Given the description of an element on the screen output the (x, y) to click on. 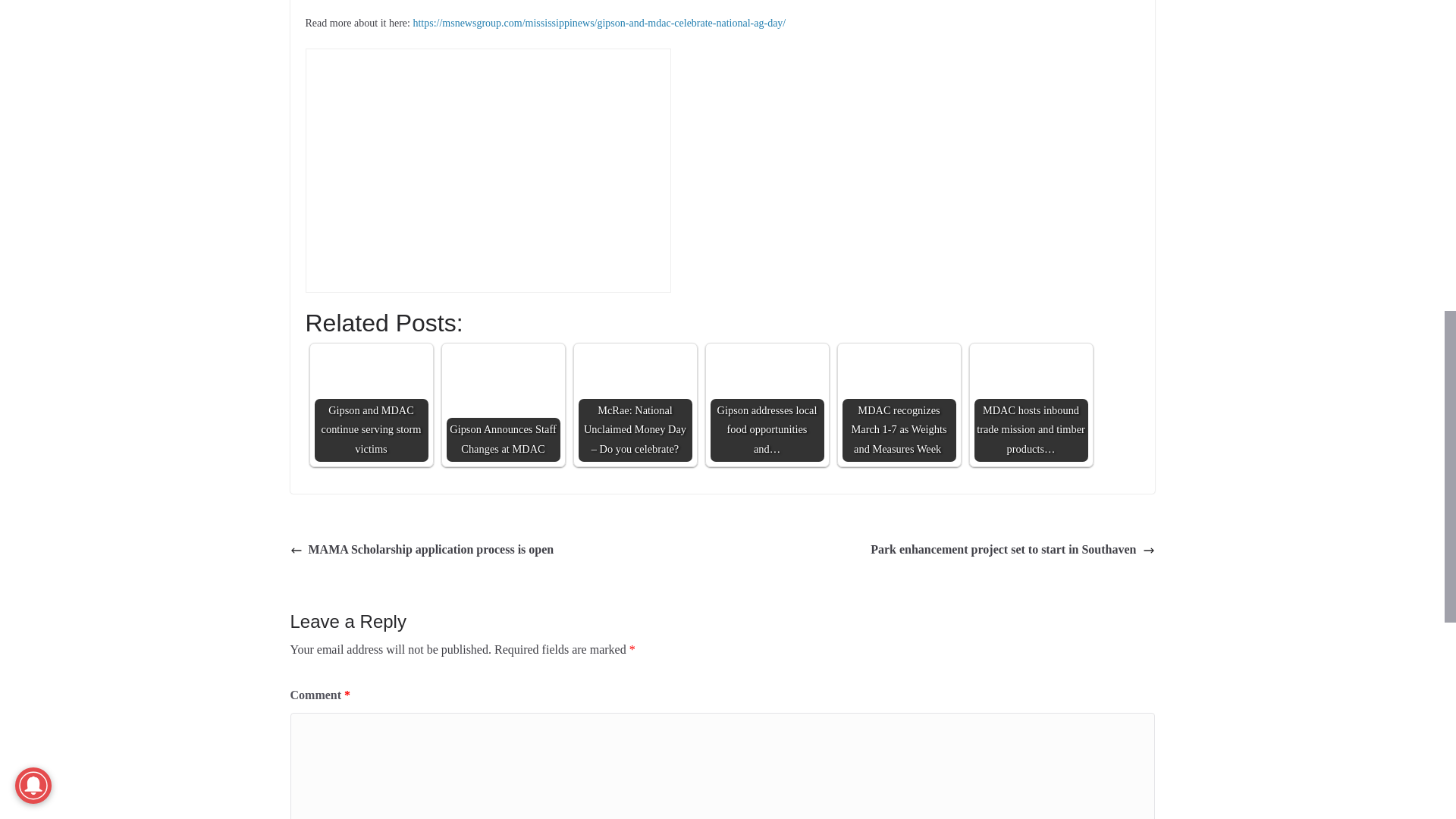
Gipson Announces Staff Changes at MDAC (502, 404)
Gipson and MDAC continue serving storm victims (371, 404)
